Given the description of an element on the screen output the (x, y) to click on. 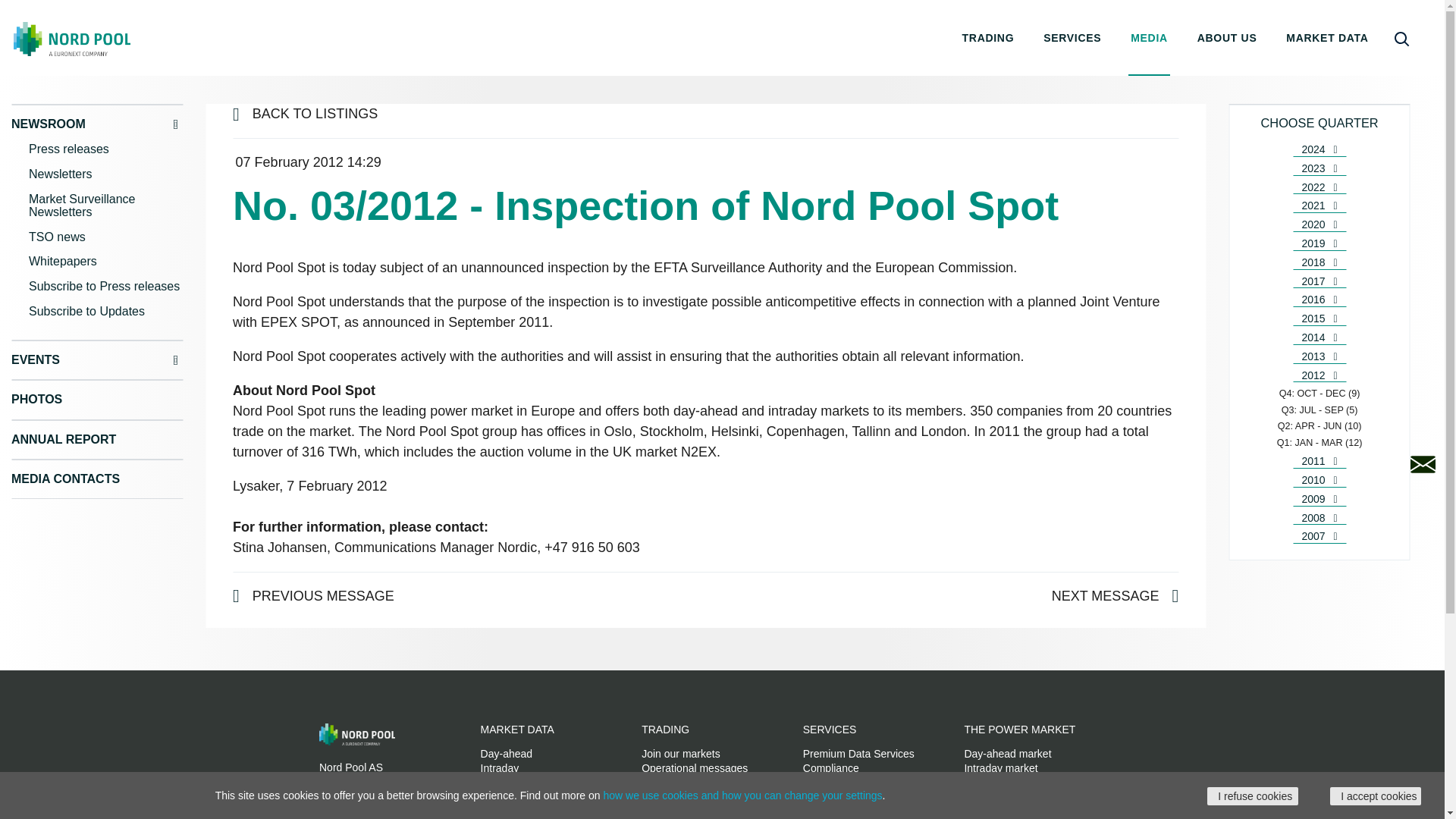
Day-ahead trading (685, 783)
I refuse cookies (1252, 796)
Power system data (525, 783)
Intraday trading (678, 797)
Nord Pool Academy (849, 797)
Map (490, 797)
Operational messages (695, 767)
Clearing (661, 812)
I accept cookies (1375, 796)
Consulting (828, 783)
German mini-site (843, 812)
Compliance (831, 767)
CACM regulation (1004, 783)
Premium Data Services (858, 753)
Intraday market (999, 767)
